Given the description of an element on the screen output the (x, y) to click on. 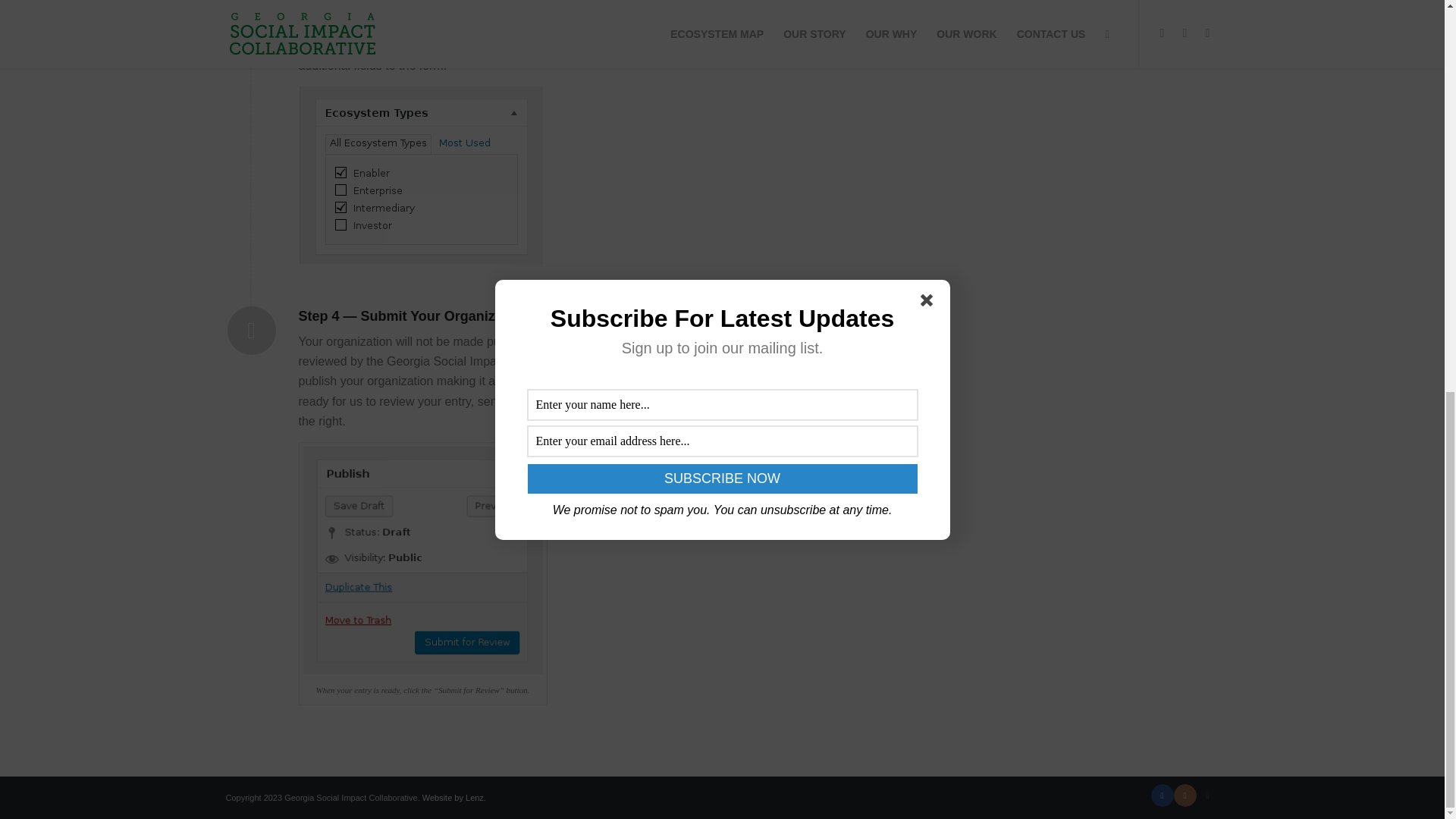
Website by Lenz. (454, 797)
Instagram (1184, 794)
Facebook (1162, 794)
LinkedIn (1208, 794)
